Given the description of an element on the screen output the (x, y) to click on. 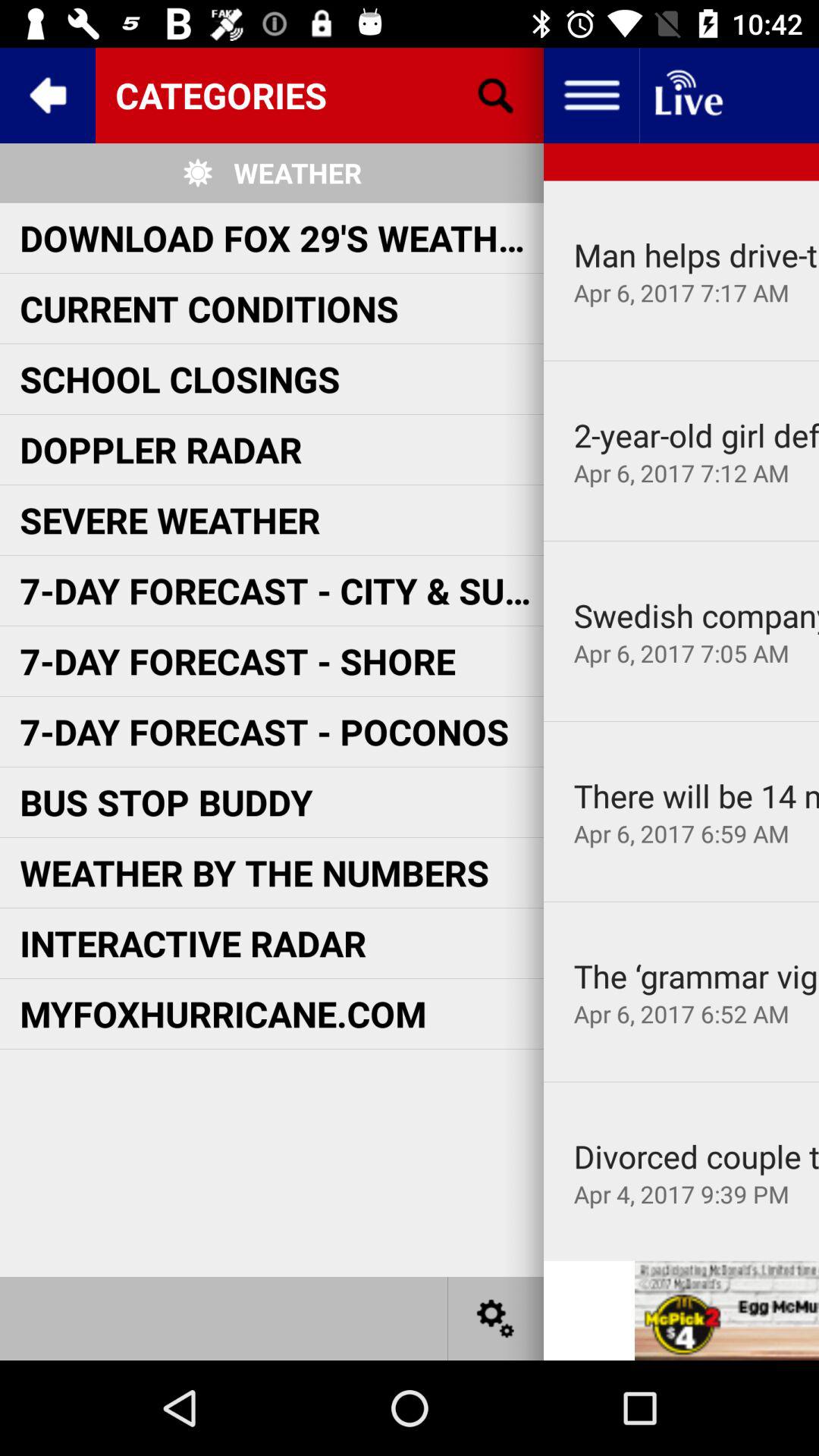
open advertisement (726, 1310)
